Given the description of an element on the screen output the (x, y) to click on. 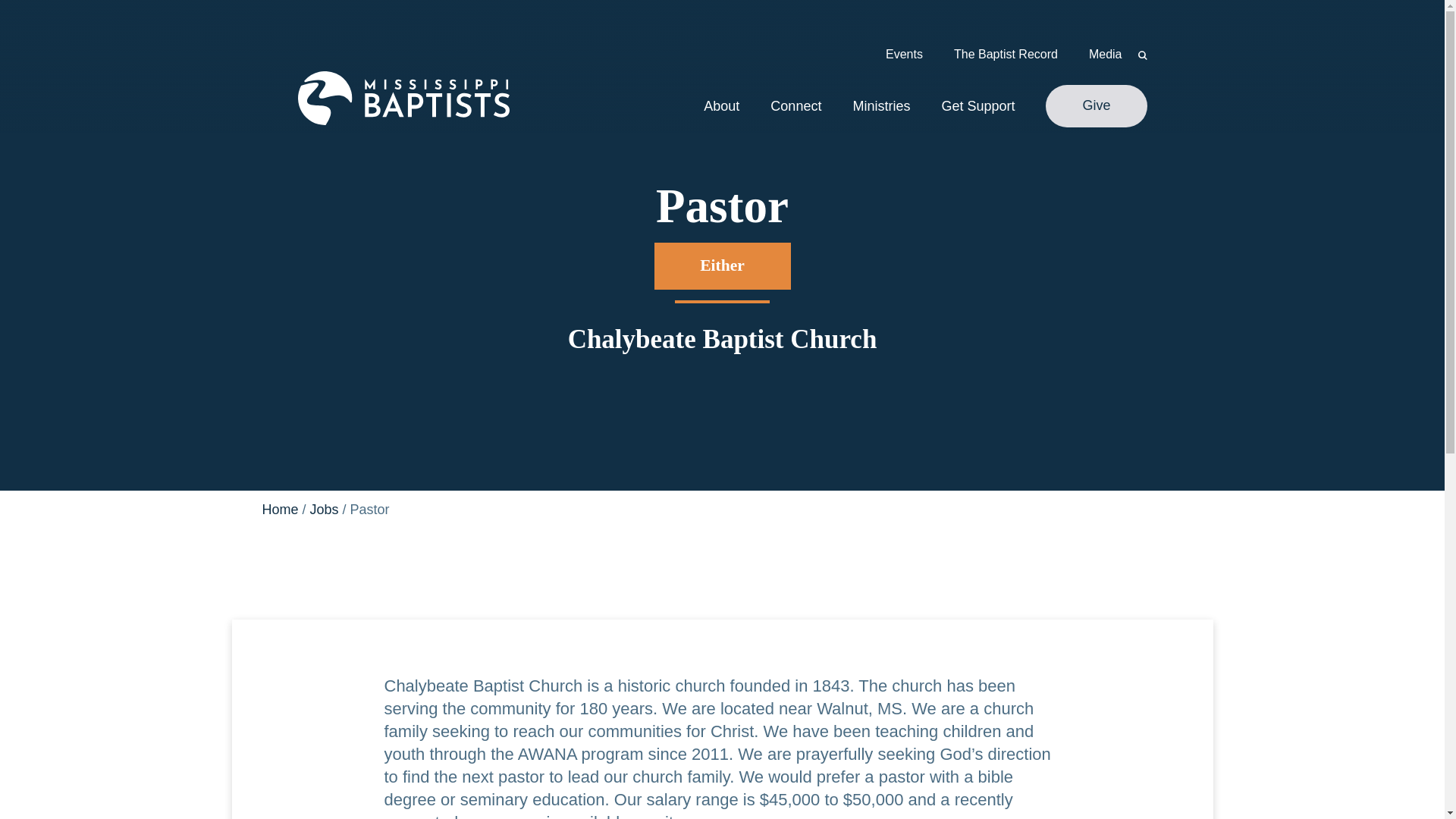
Connect (795, 105)
Ministries (880, 105)
 Return to Homepage (402, 99)
About (721, 105)
Get Support (977, 105)
Mississippi Baptist Convention Board (402, 99)
